Given the description of an element on the screen output the (x, y) to click on. 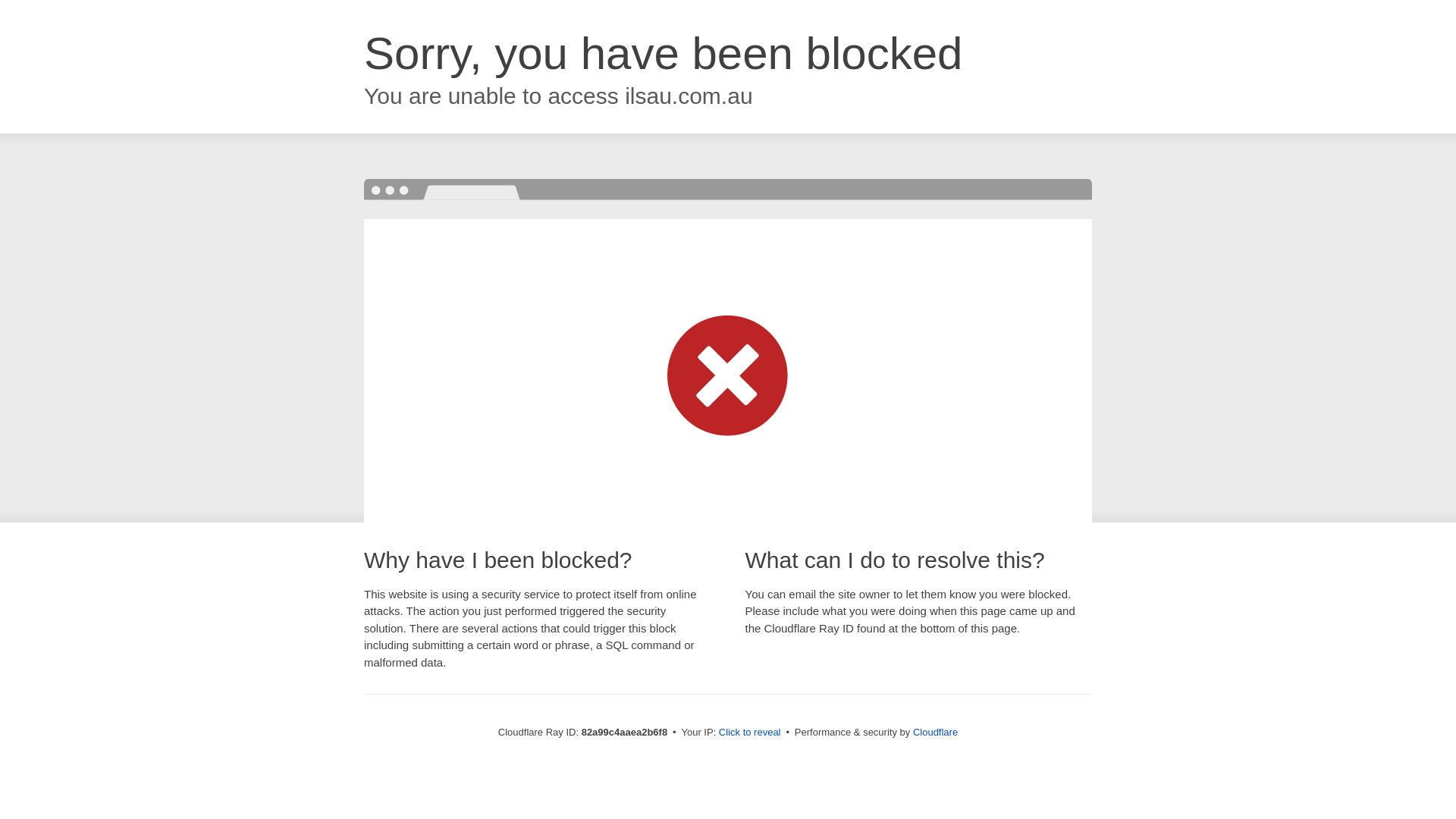
Cloudflare Element type: text (935, 731)
Click to reveal Element type: text (749, 732)
